Given the description of an element on the screen output the (x, y) to click on. 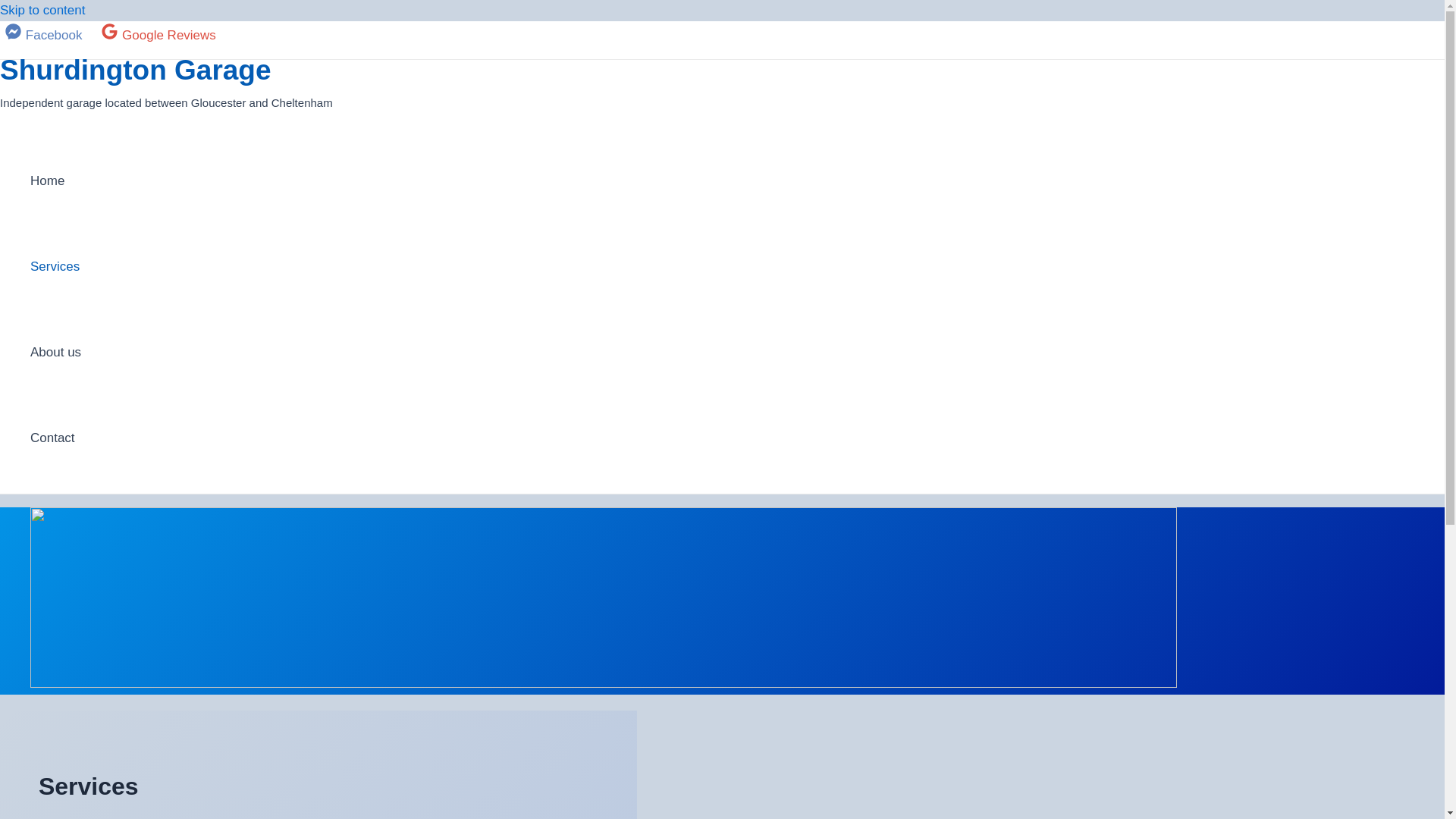
Skip to content (42, 10)
Google Reviews (158, 34)
Facebook (43, 34)
Skip to content (42, 10)
Shurdington Garage (135, 69)
